Given the description of an element on the screen output the (x, y) to click on. 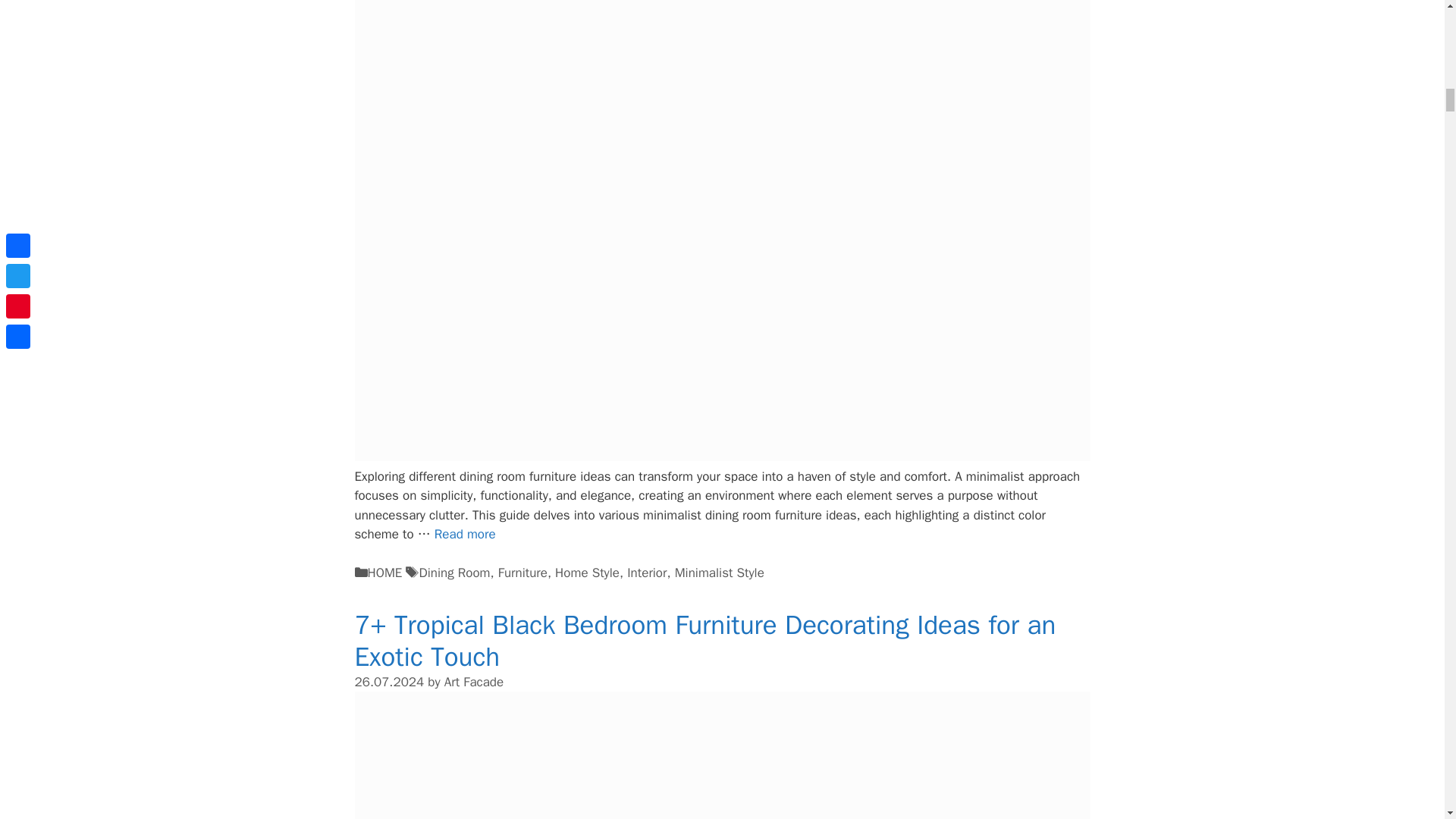
View all posts by Art Facade (473, 682)
